Given the description of an element on the screen output the (x, y) to click on. 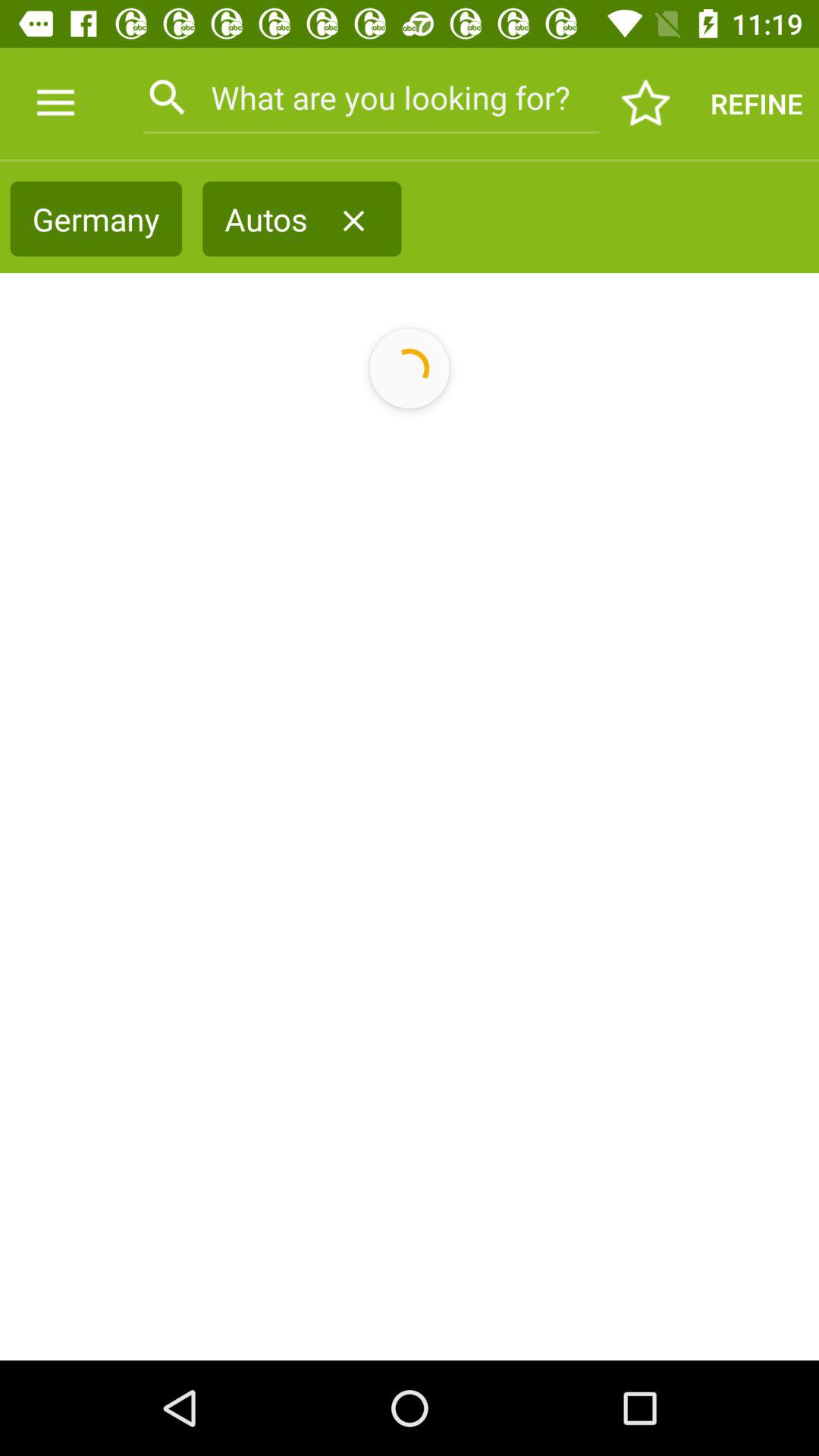
flip until the refine (756, 103)
